Given the description of an element on the screen output the (x, y) to click on. 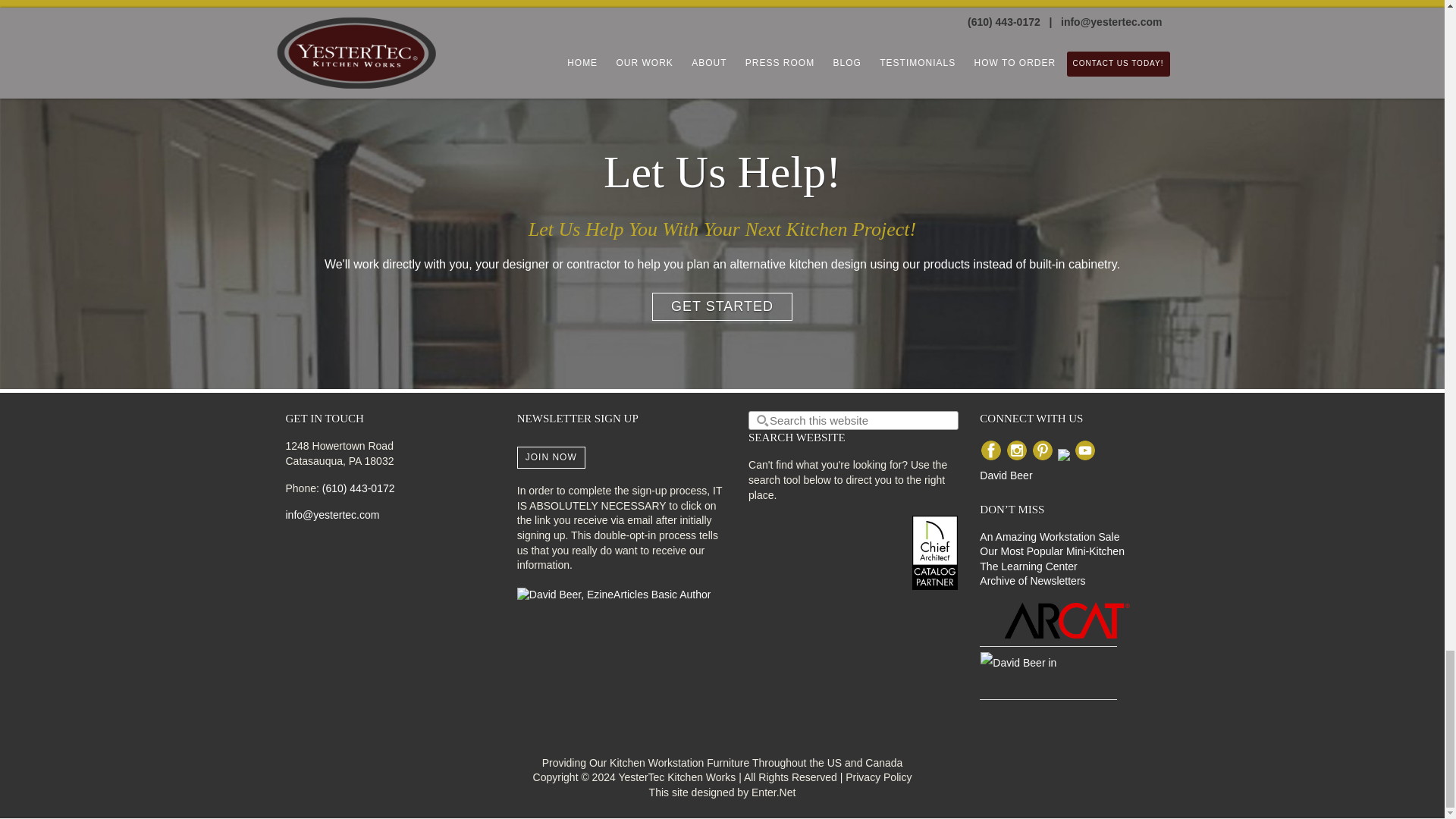
JOIN NOW (550, 456)
David Beer, EzineArticles Expert Author (614, 594)
GET STARTED (722, 306)
